Given the description of an element on the screen output the (x, y) to click on. 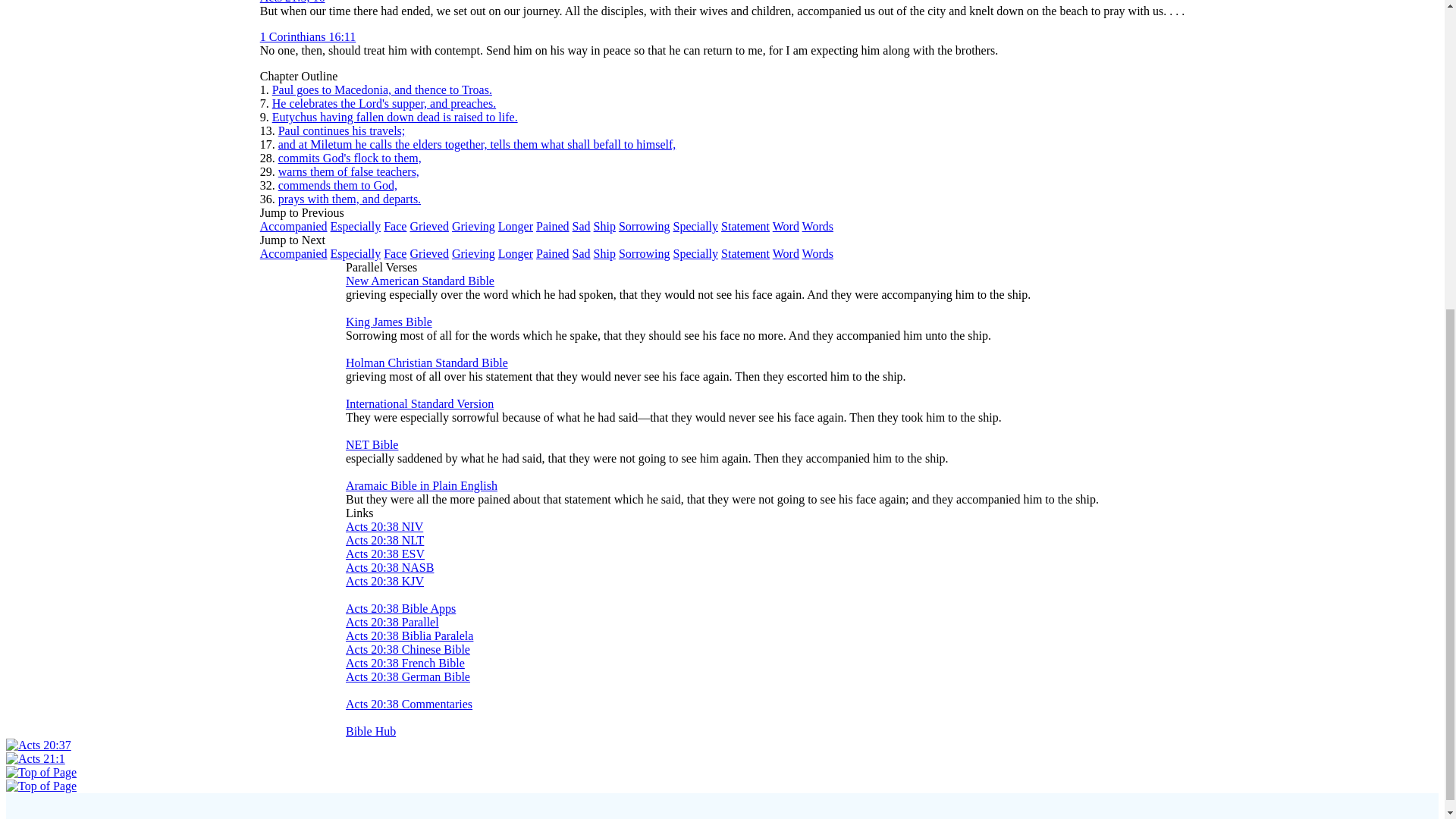
Pained (552, 226)
Ship (604, 226)
Pained (552, 253)
Sad (581, 253)
He celebrates the Lord's supper, and preaches. (384, 103)
Paul goes to Macedonia, and thence to Troas. (382, 89)
Specially (694, 226)
Accompanied (293, 226)
Especially (355, 253)
Acts 20:37 (38, 744)
Words (817, 226)
Longer (514, 253)
commends them to God, (337, 185)
Top of Page (41, 785)
Statement (745, 226)
